Given the description of an element on the screen output the (x, y) to click on. 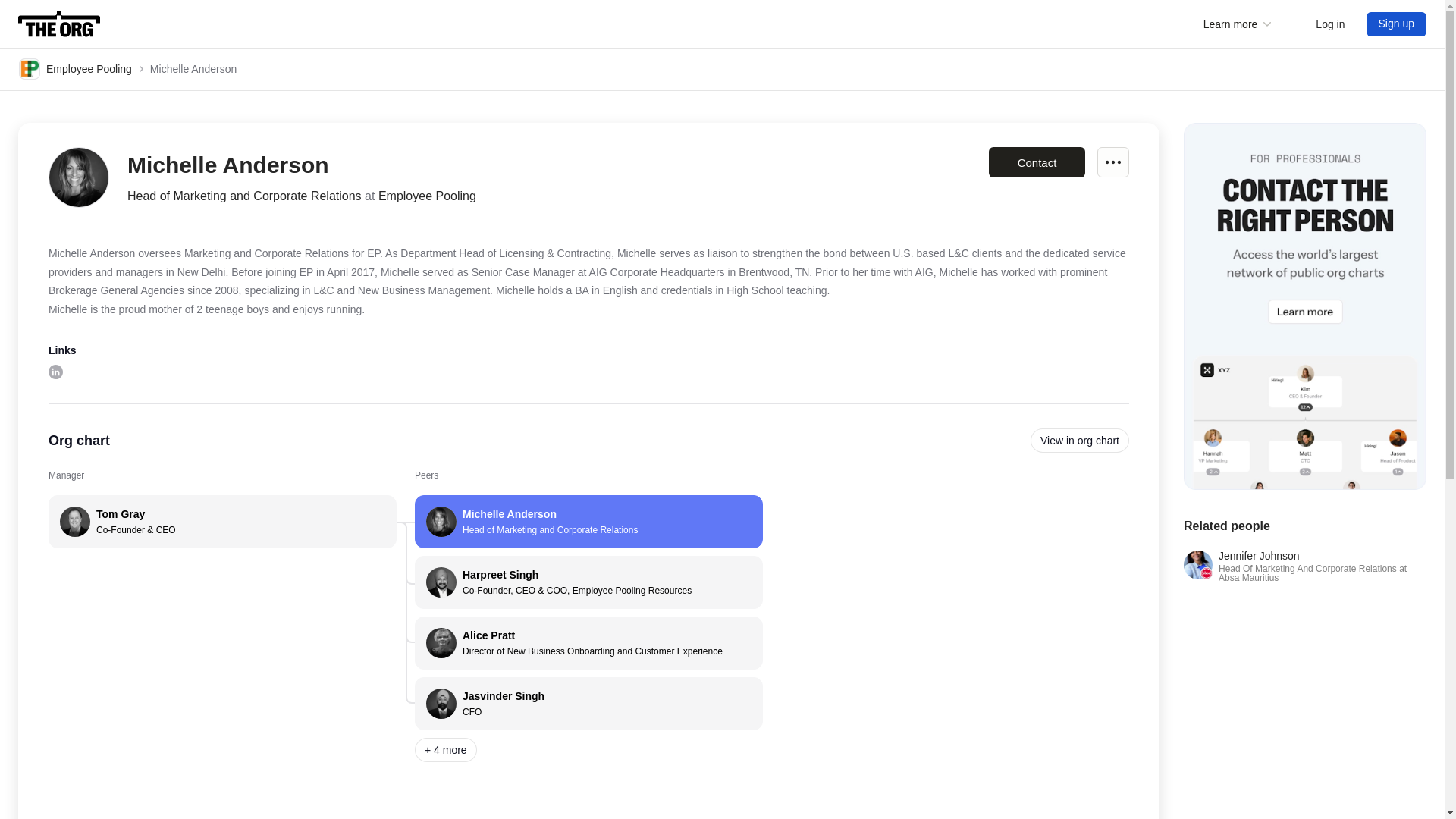
Sign up (1396, 24)
The Org Home (58, 23)
Log in (1329, 24)
View on linkedIn (55, 371)
Join, edit and report menu (588, 521)
Learn more (1113, 162)
Contact (1237, 24)
Log in to The Org (1036, 162)
View in org chart (588, 703)
Sign up to The Org (1329, 24)
Employee Pooling (1079, 440)
